Given the description of an element on the screen output the (x, y) to click on. 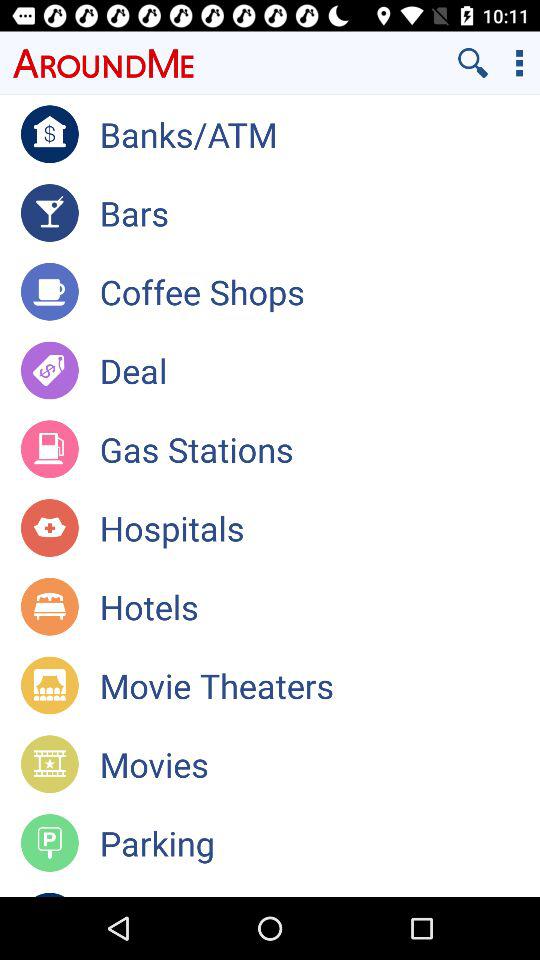
swipe to the deal app (319, 370)
